Given the description of an element on the screen output the (x, y) to click on. 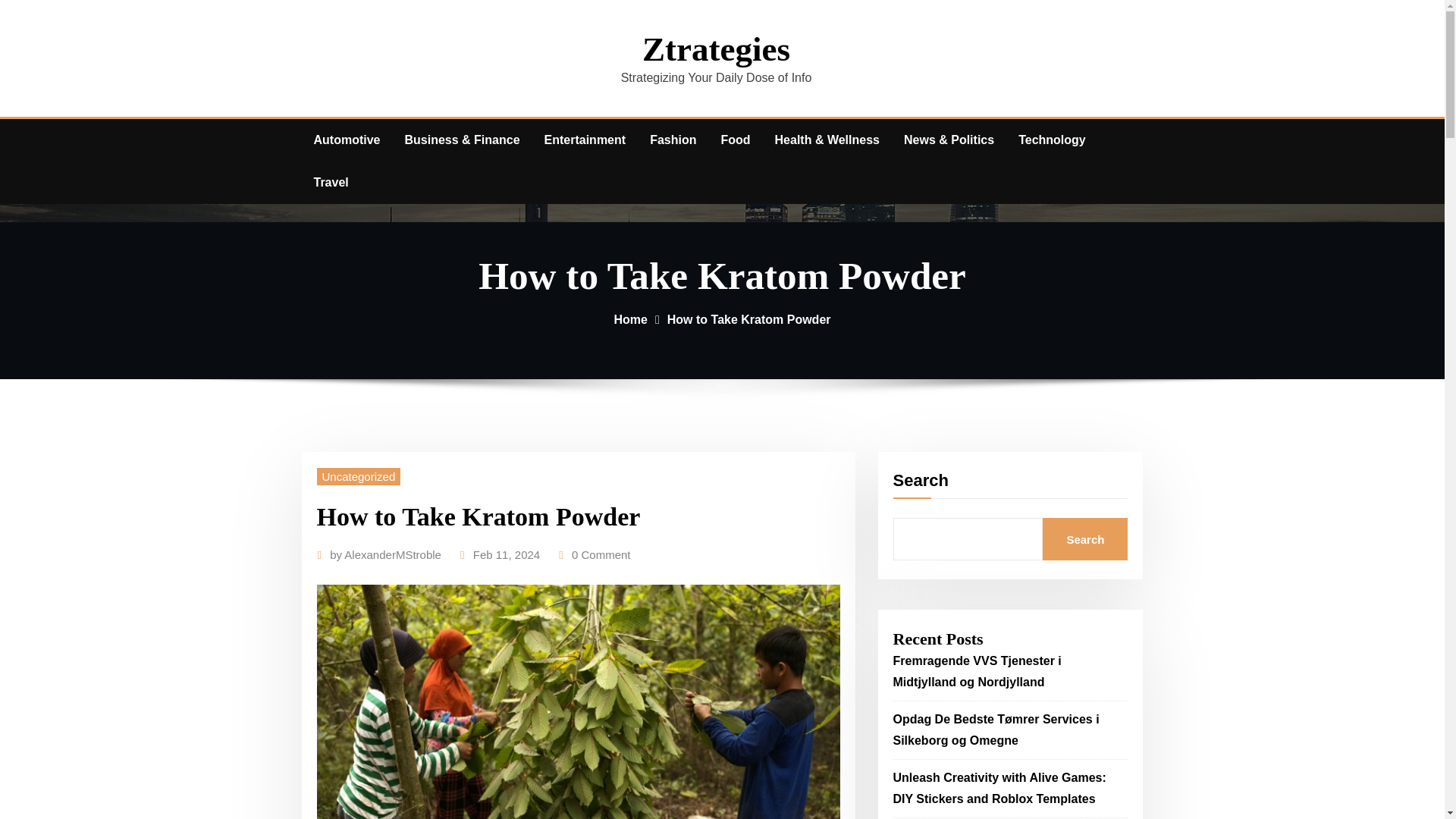
by AlexanderMStroble (385, 555)
0 Comment (601, 555)
Food (734, 139)
Entertainment (585, 139)
Feb 11, 2024 (506, 555)
How to Take Kratom Powder (748, 318)
Search (1084, 538)
Fremragende VVS Tjenester i Midtjylland og Nordjylland (977, 671)
Automotive (347, 139)
Technology (1051, 139)
Fashion (672, 139)
Travel (331, 182)
Uncategorized (359, 476)
Ztrategies (716, 48)
